Given the description of an element on the screen output the (x, y) to click on. 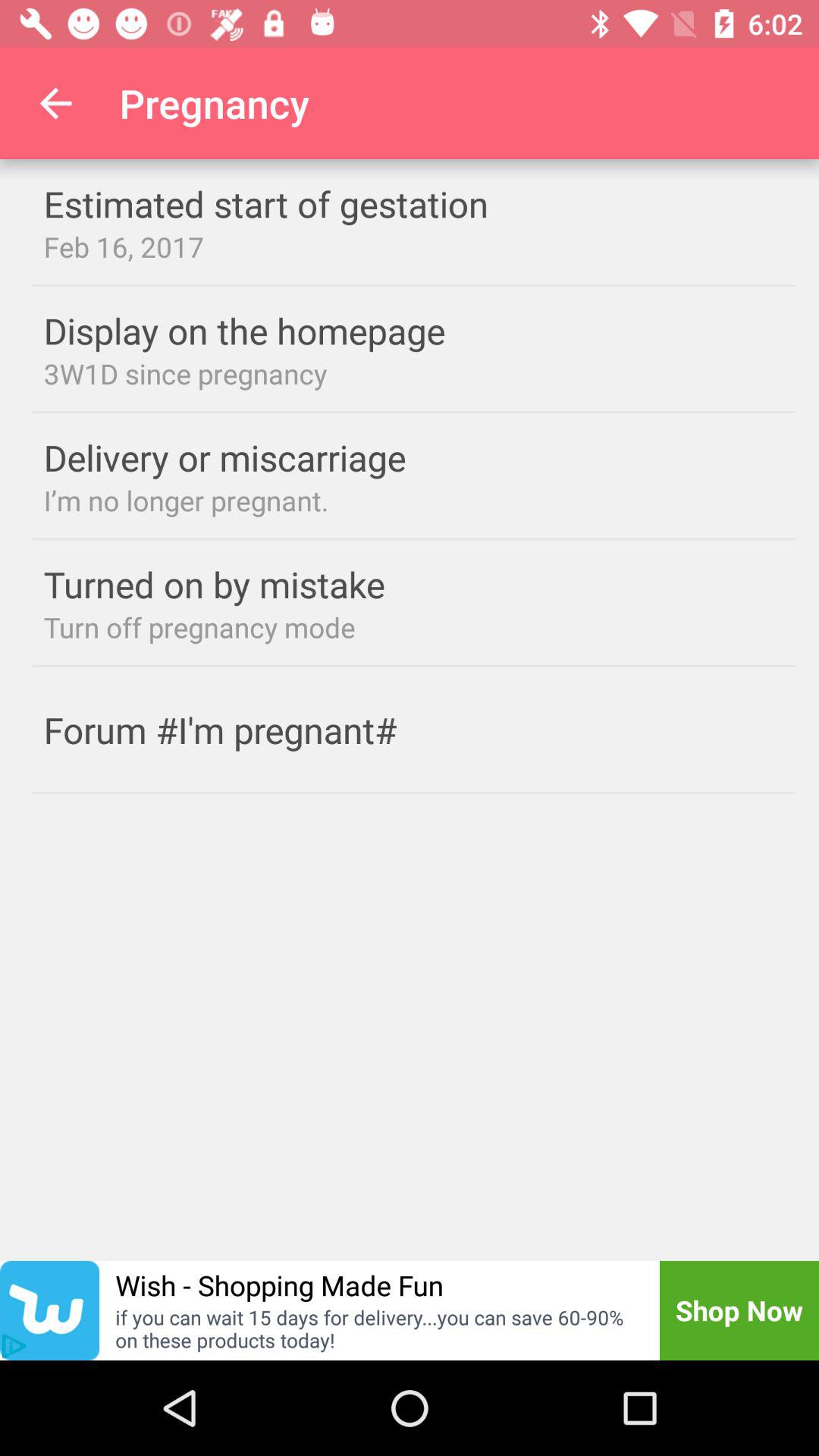
open the item below wish shopping made icon (377, 1329)
